Given the description of an element on the screen output the (x, y) to click on. 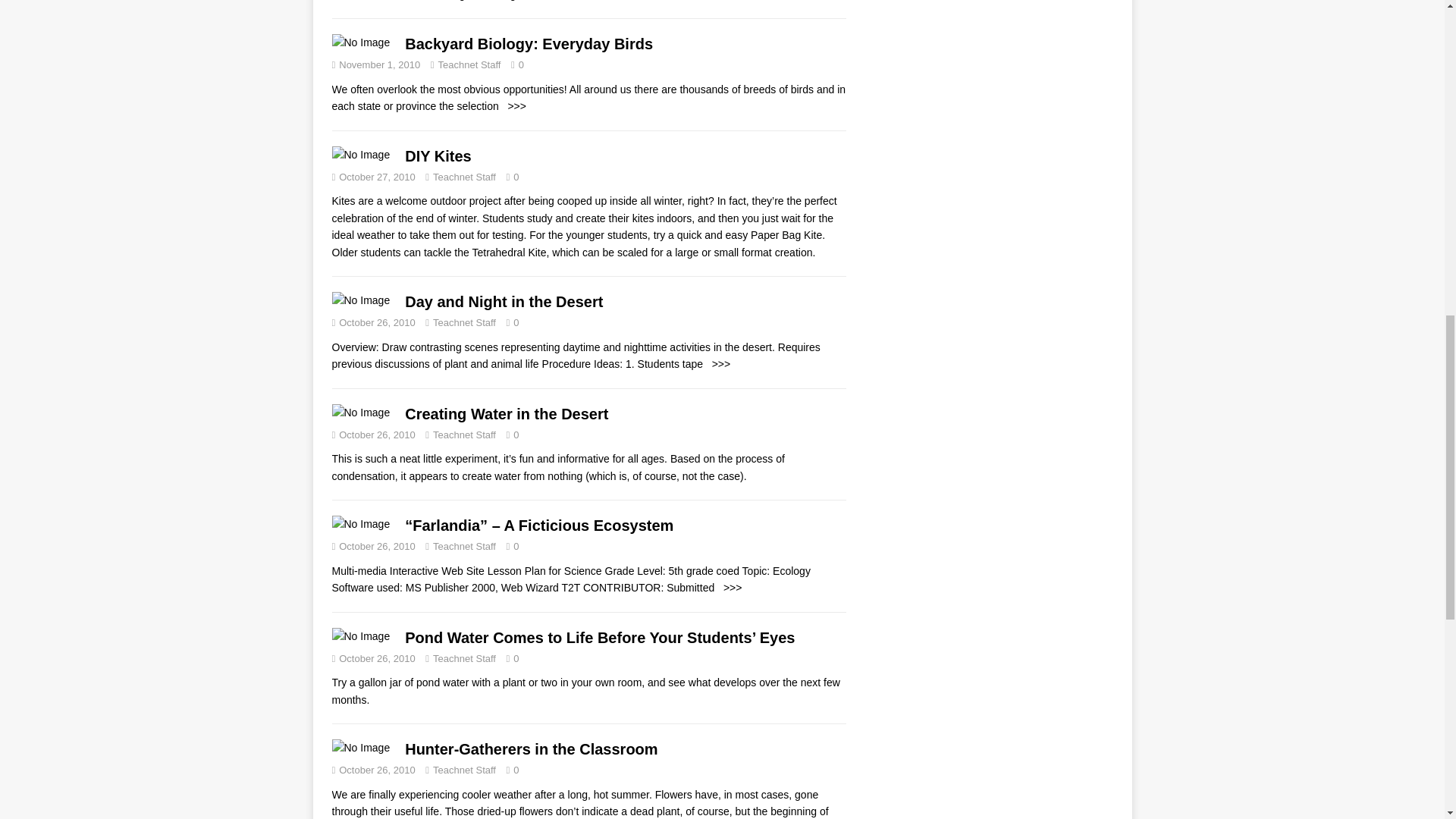
Backyard Biology: Everyday Birds (513, 105)
Day and Night in the Desert (718, 363)
